Given the description of an element on the screen output the (x, y) to click on. 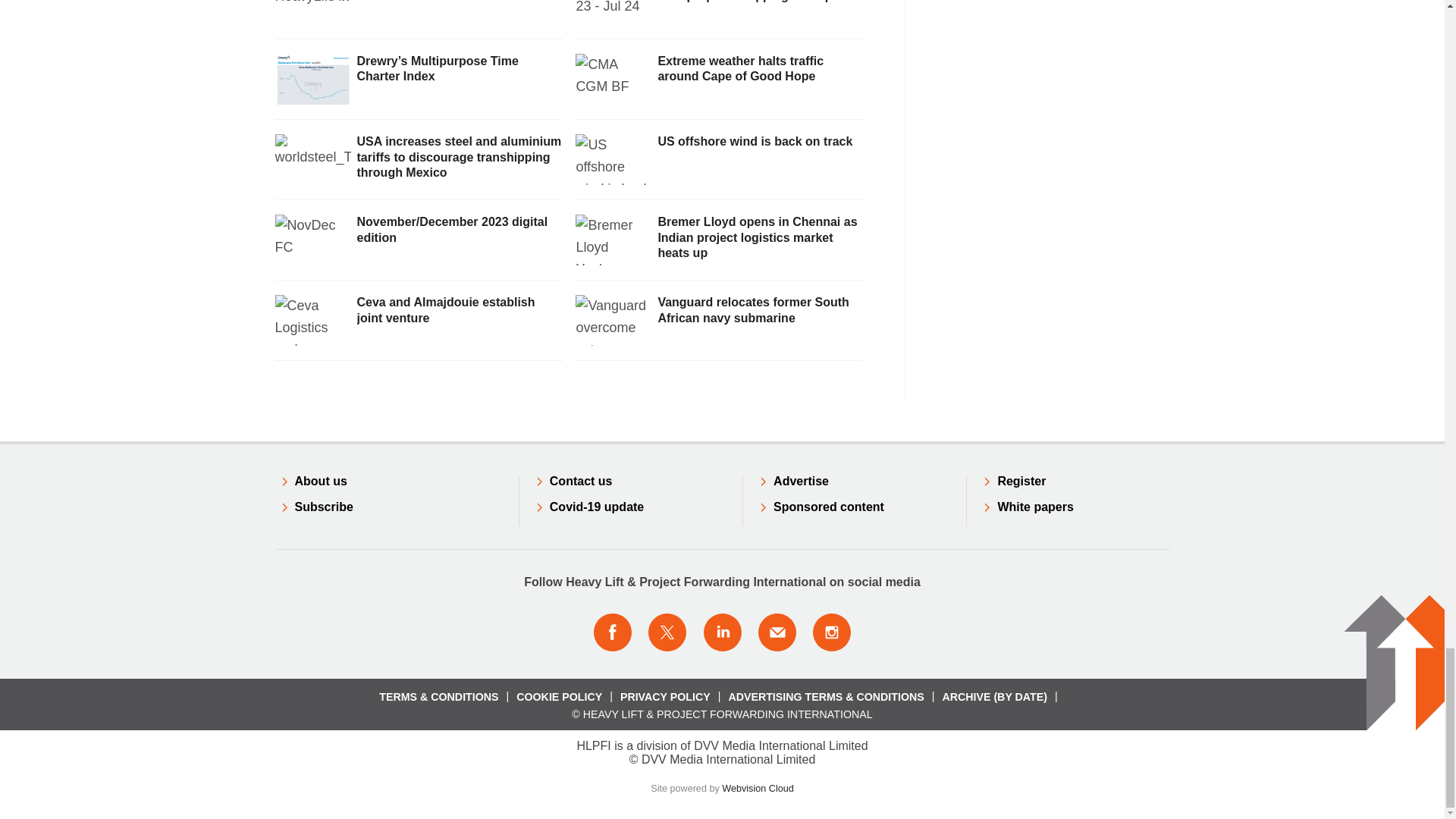
Connect with us on LinkedIn (721, 631)
Email us (776, 631)
Connect with us on Facebook (611, 631)
Connect with us on Instagram (831, 631)
Connect with us on Twitter (667, 631)
